Given the description of an element on the screen output the (x, y) to click on. 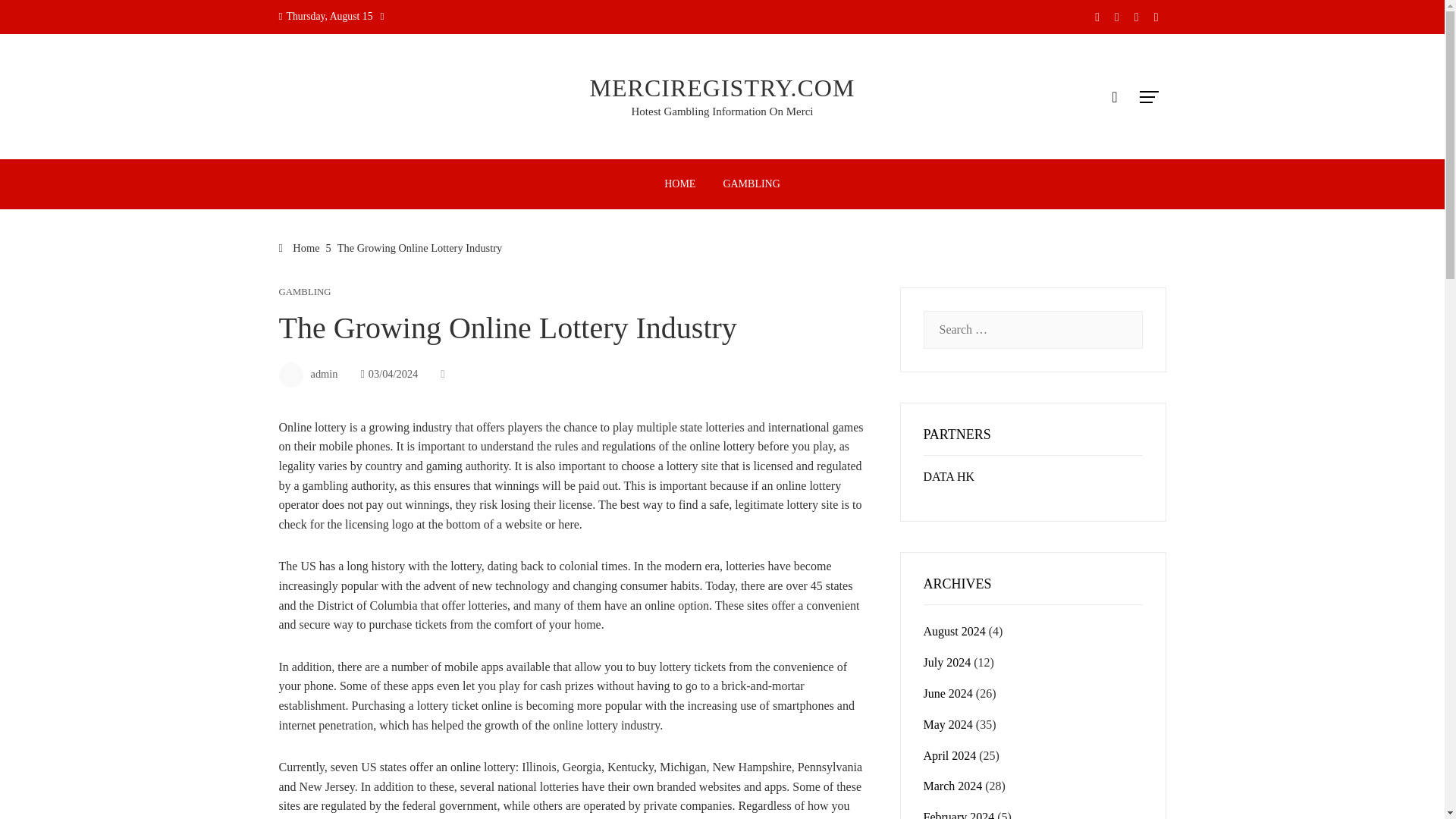
February 2024 (958, 814)
July 2024 (947, 662)
June 2024 (947, 693)
DATA HK (949, 476)
Hotest Gambling Information On Merci (722, 111)
April 2024 (949, 755)
August 2024 (954, 631)
Search (35, 18)
GAMBLING (750, 183)
MERCIREGISTRY.COM (722, 87)
